Given the description of an element on the screen output the (x, y) to click on. 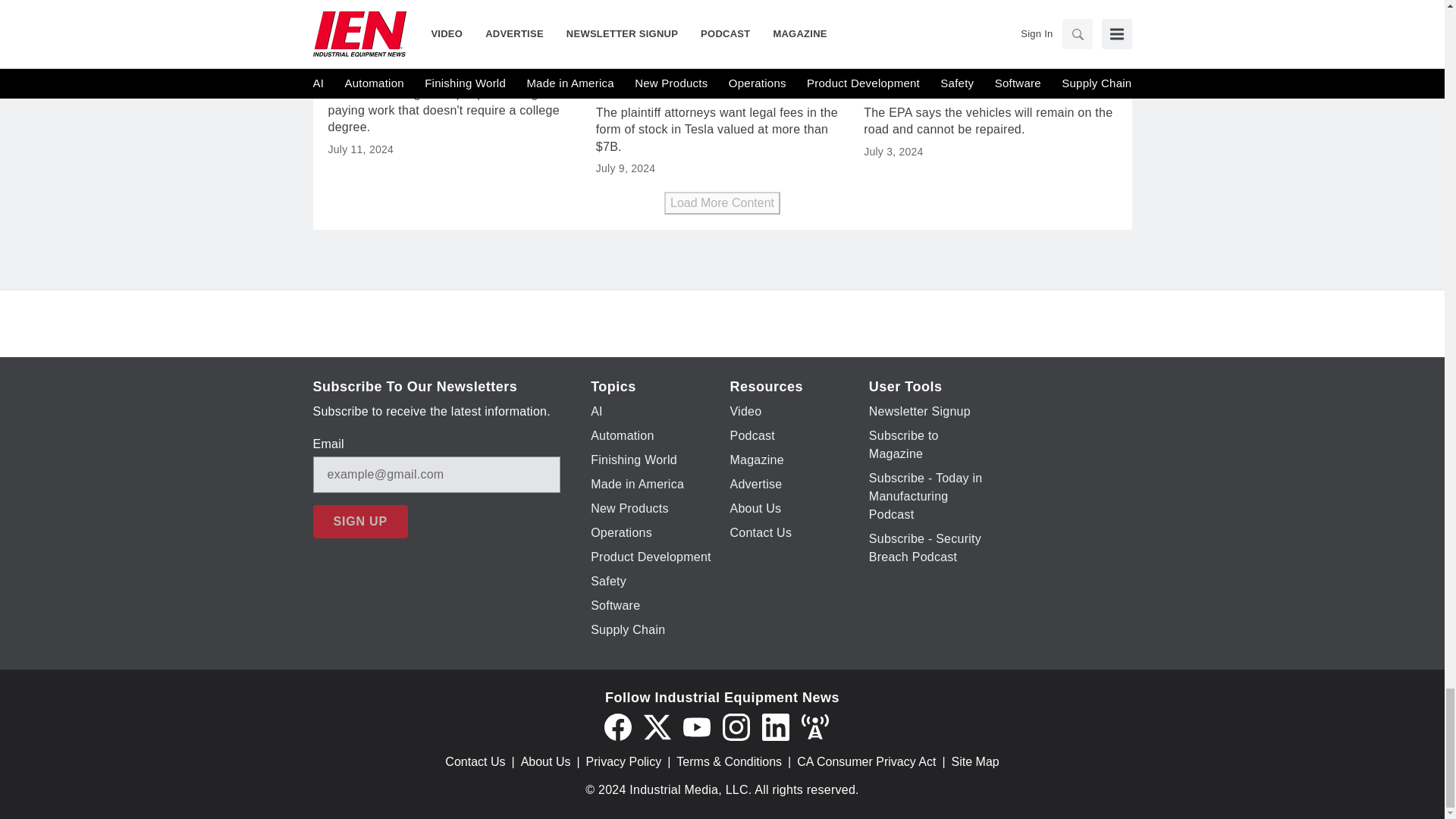
YouTube icon (696, 727)
Facebook icon (617, 727)
LinkedIn icon (775, 727)
Twitter X icon (656, 727)
Instagram icon (735, 727)
